Given the description of an element on the screen output the (x, y) to click on. 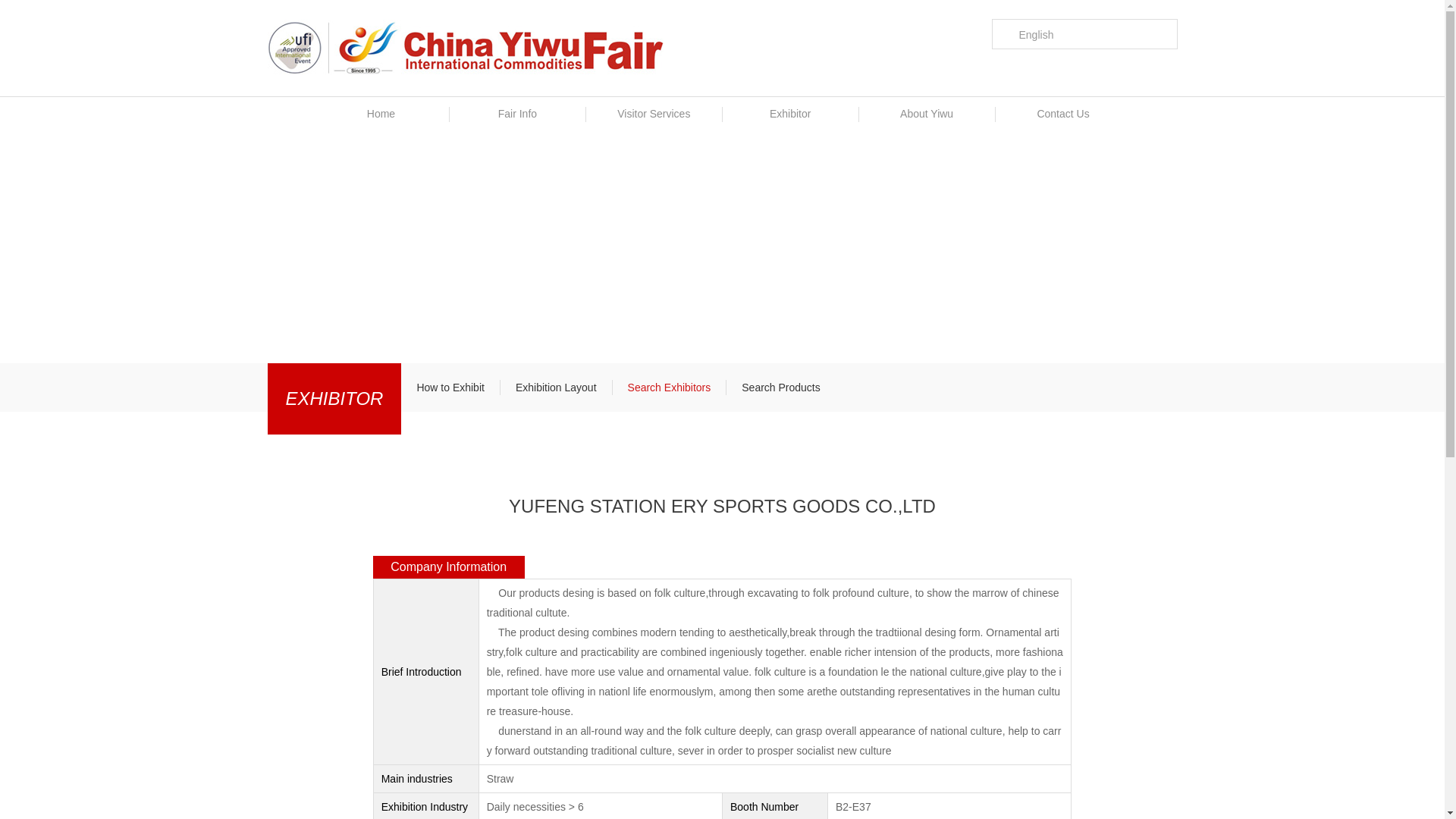
Search Exhibitors (669, 387)
Home (380, 114)
Exhibition Layout (555, 387)
Exhibitor (790, 114)
About Yiwu (926, 114)
Fair Info (516, 114)
Visitor Services (653, 114)
Contact Us (1062, 114)
Search Products (780, 387)
How to Exhibit (450, 387)
